Given the description of an element on the screen output the (x, y) to click on. 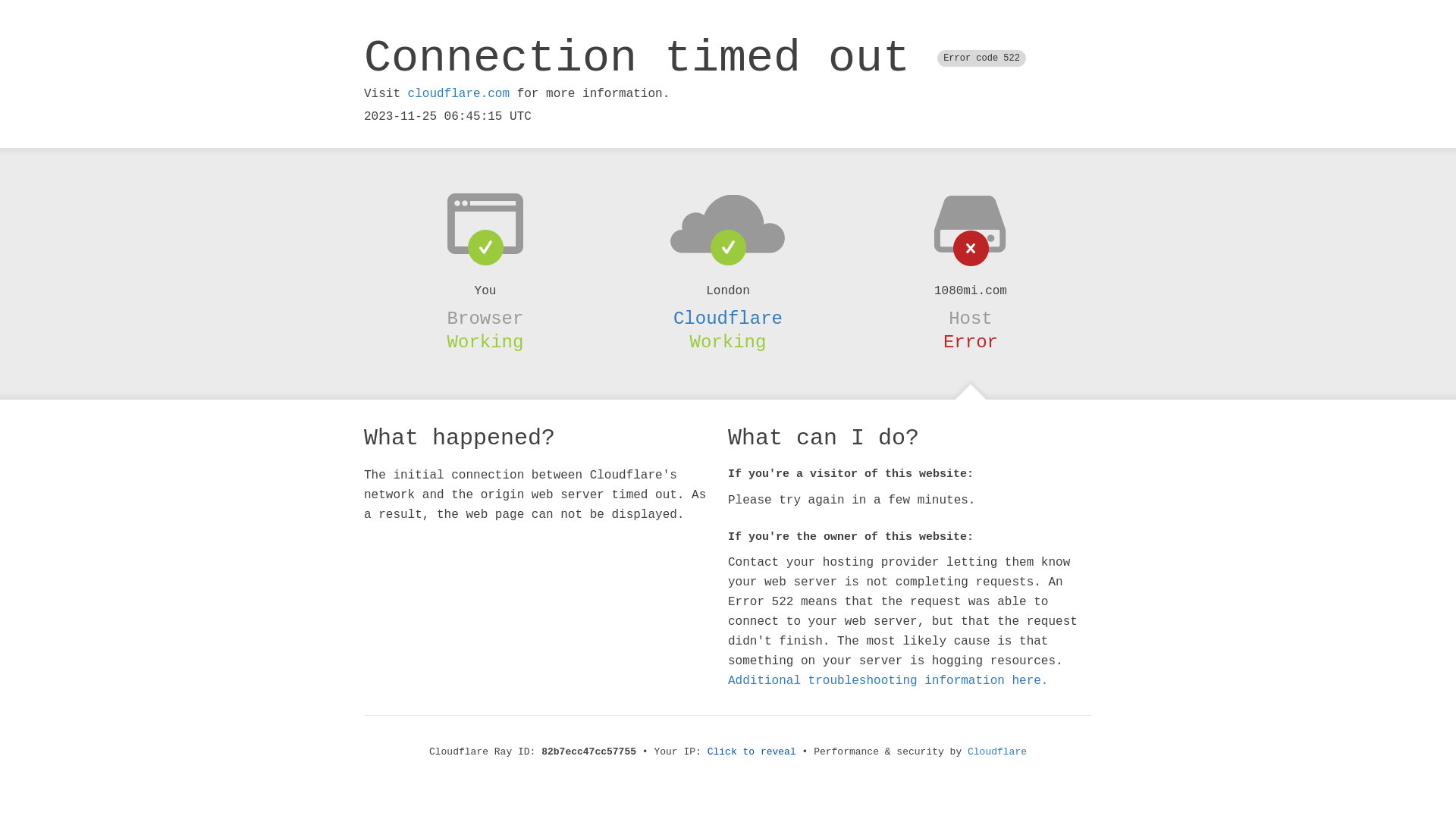
cloudflare.com Element type: text (458, 93)
Cloudflare Element type: text (727, 318)
Cloudflare Element type: text (996, 751)
Additional troubleshooting information here. Element type: text (888, 680)
Click to reveal Element type: text (751, 751)
